Given the description of an element on the screen output the (x, y) to click on. 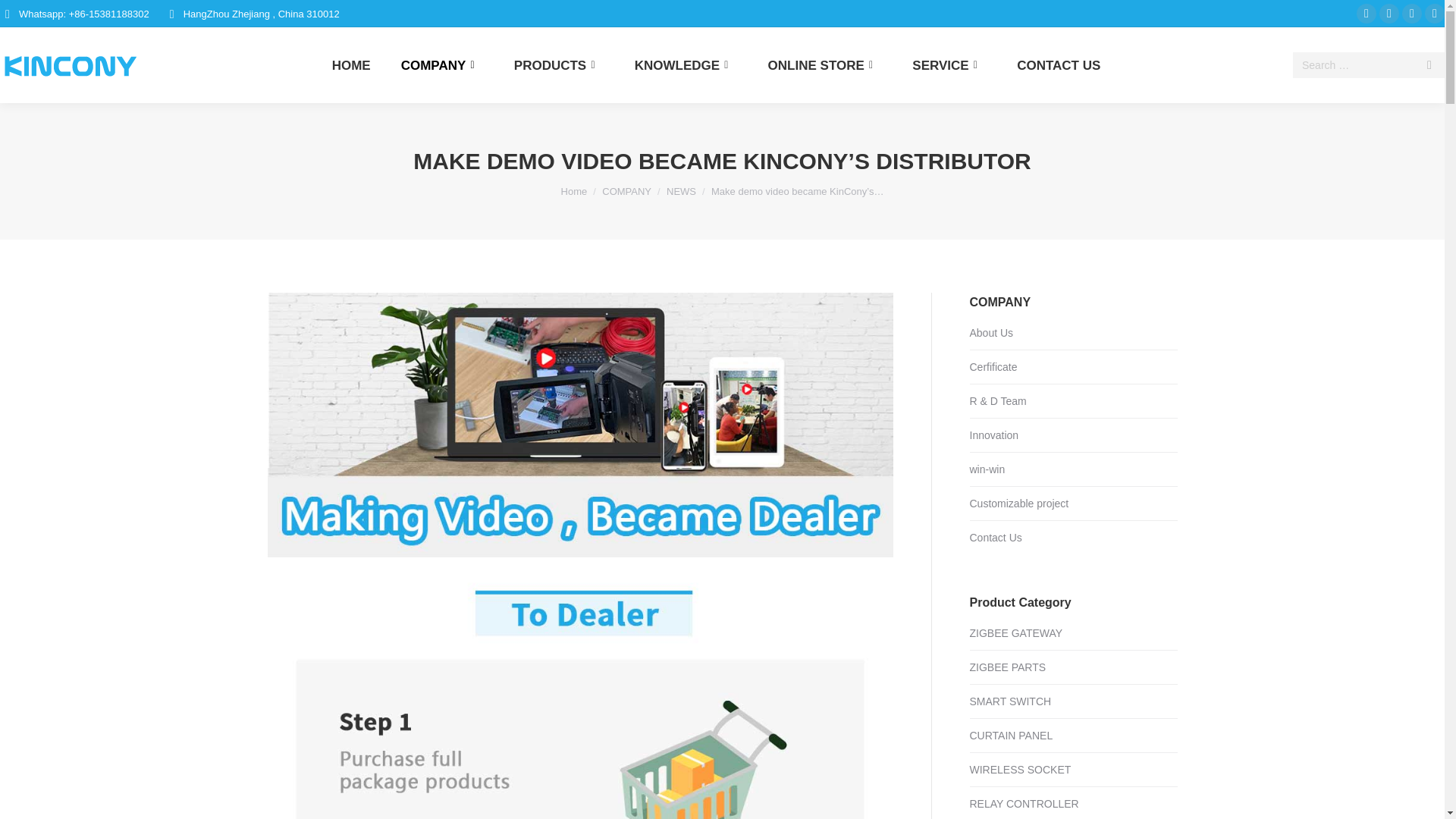
Skype page opens in new window (1412, 13)
Facebook page opens in new window (1365, 13)
Facebook page opens in new window (1365, 13)
COMPANY (626, 191)
COMPANY (442, 65)
HOME (351, 65)
Twitter page opens in new window (1388, 13)
Twitter page opens in new window (1388, 13)
Skype page opens in new window (1412, 13)
PRODUCTS (559, 65)
